Given the description of an element on the screen output the (x, y) to click on. 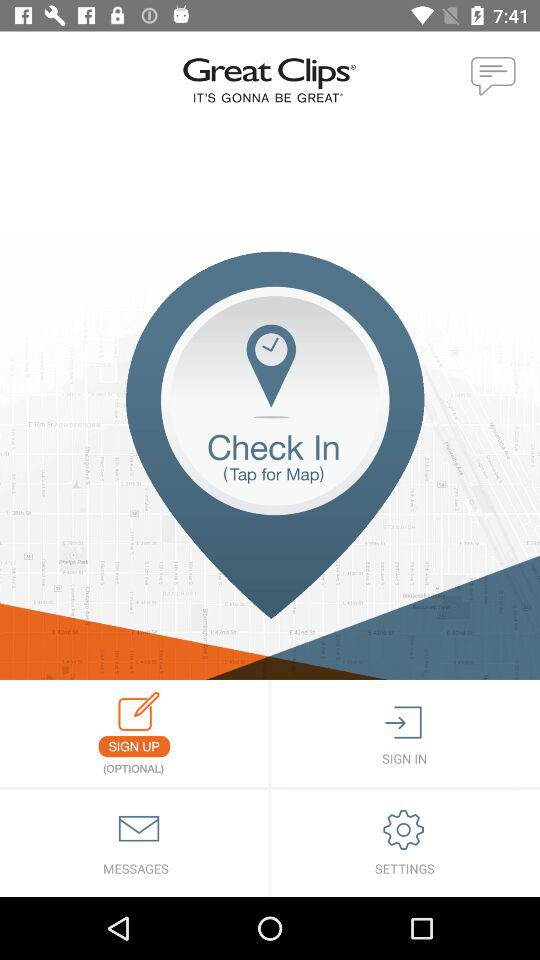
open map (269, 465)
